Given the description of an element on the screen output the (x, y) to click on. 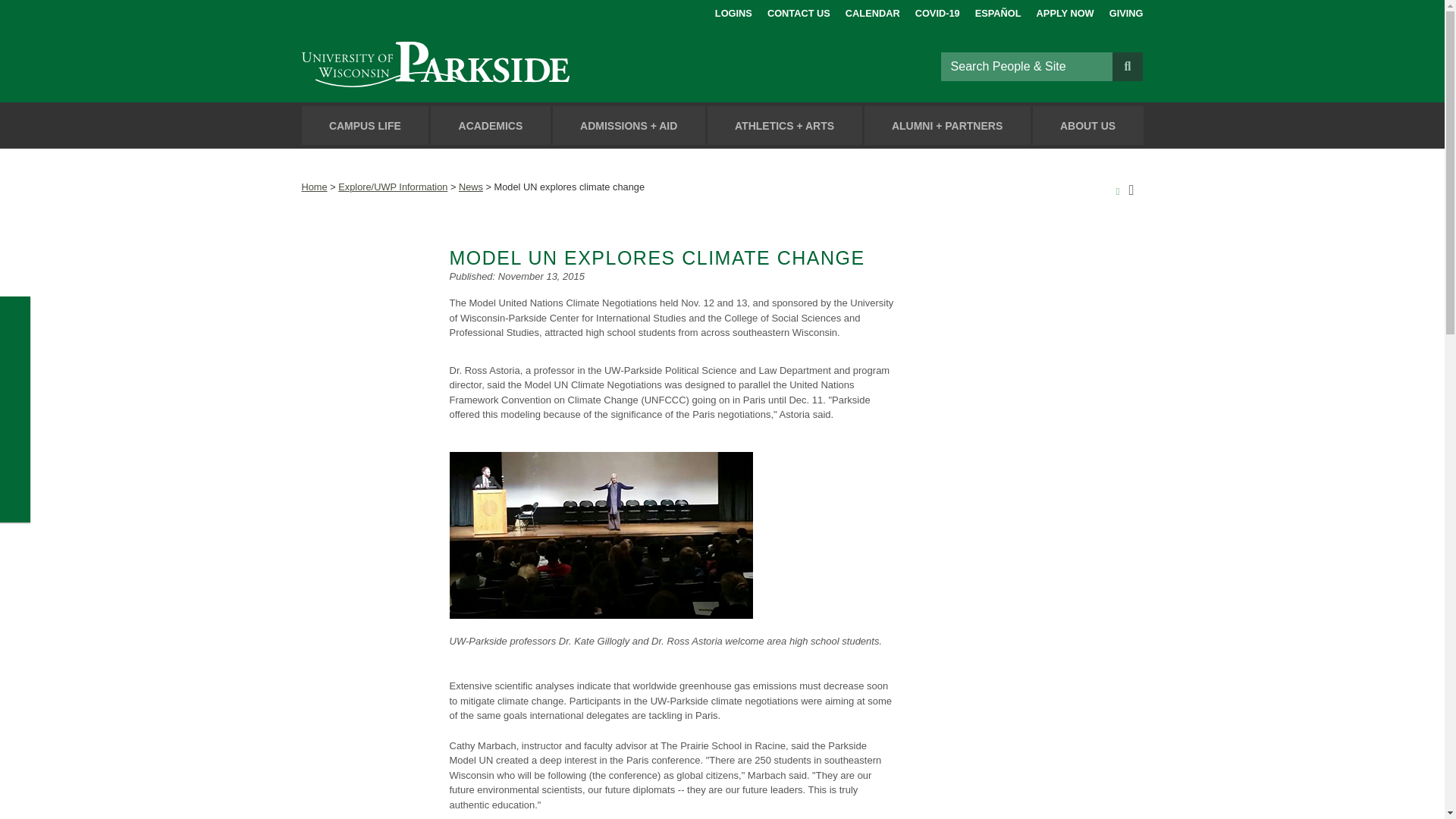
Submit (1127, 65)
University of Wisconsin-Parkside (470, 66)
APPLY NOW (1065, 11)
professors at Model UN (600, 535)
University of Wisconsin-Parkside (470, 66)
CALENDAR (872, 11)
LOGINS (733, 11)
CAMPUS LIFE (365, 125)
COVID-19 (937, 11)
CONTACT US (798, 11)
